Given the description of an element on the screen output the (x, y) to click on. 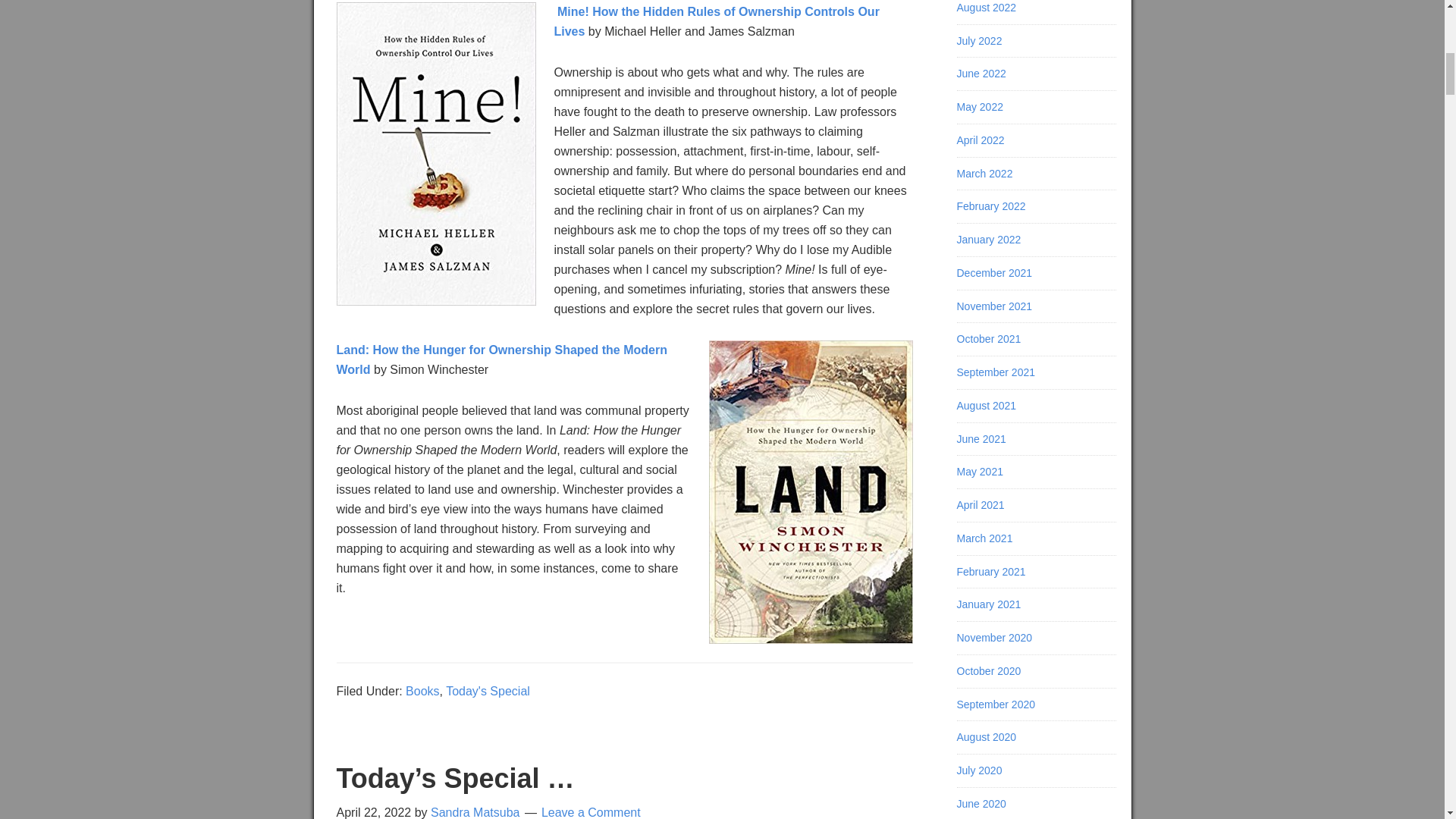
Land: How the Hunger for Ownership Shaped the Modern World (501, 359)
Mine! How the Hidden Rules of Ownership Controls Our Lives (716, 20)
Leave a Comment (590, 812)
Books (422, 690)
Today's Special (487, 690)
Sandra Matsuba (474, 812)
